Given the description of an element on the screen output the (x, y) to click on. 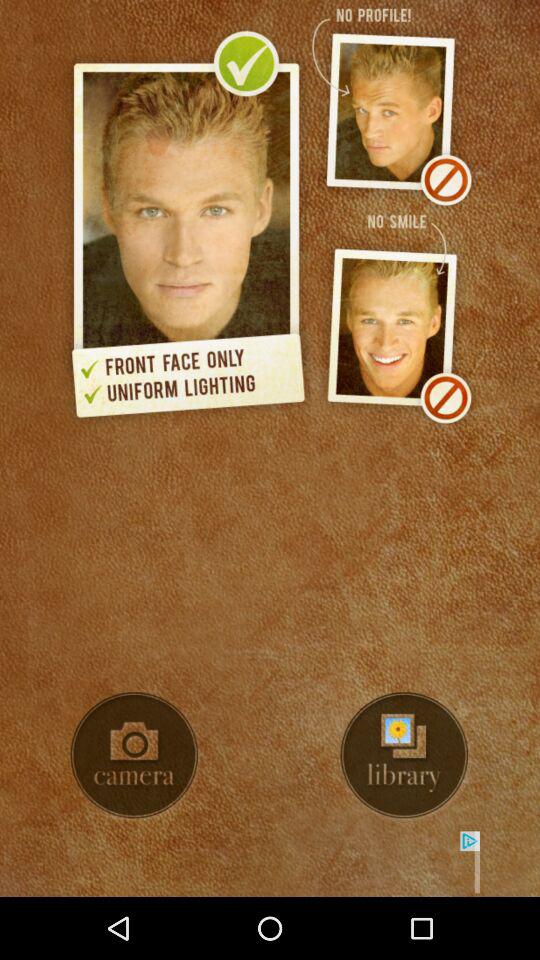
take photo (134, 755)
